Given the description of an element on the screen output the (x, y) to click on. 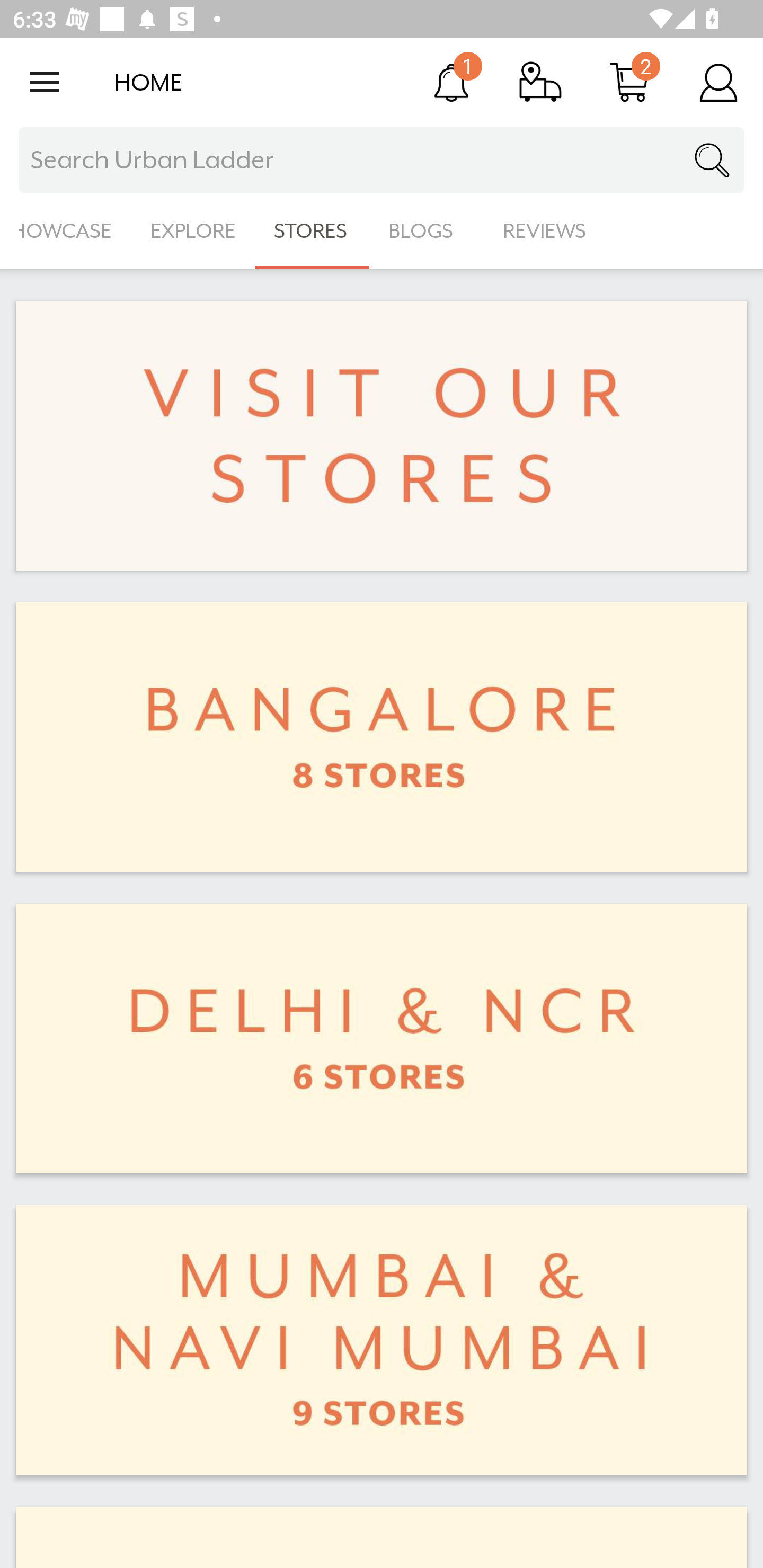
Open navigation drawer (44, 82)
Notification (450, 81)
Track Order (540, 81)
Cart (629, 81)
Account Details (718, 81)
Search Urban Ladder  (381, 159)
SHOWCASE (65, 230)
EXPLORE (192, 230)
STORES (311, 230)
BLOGS (426, 230)
REVIEWS (544, 230)
